Given the description of an element on the screen output the (x, y) to click on. 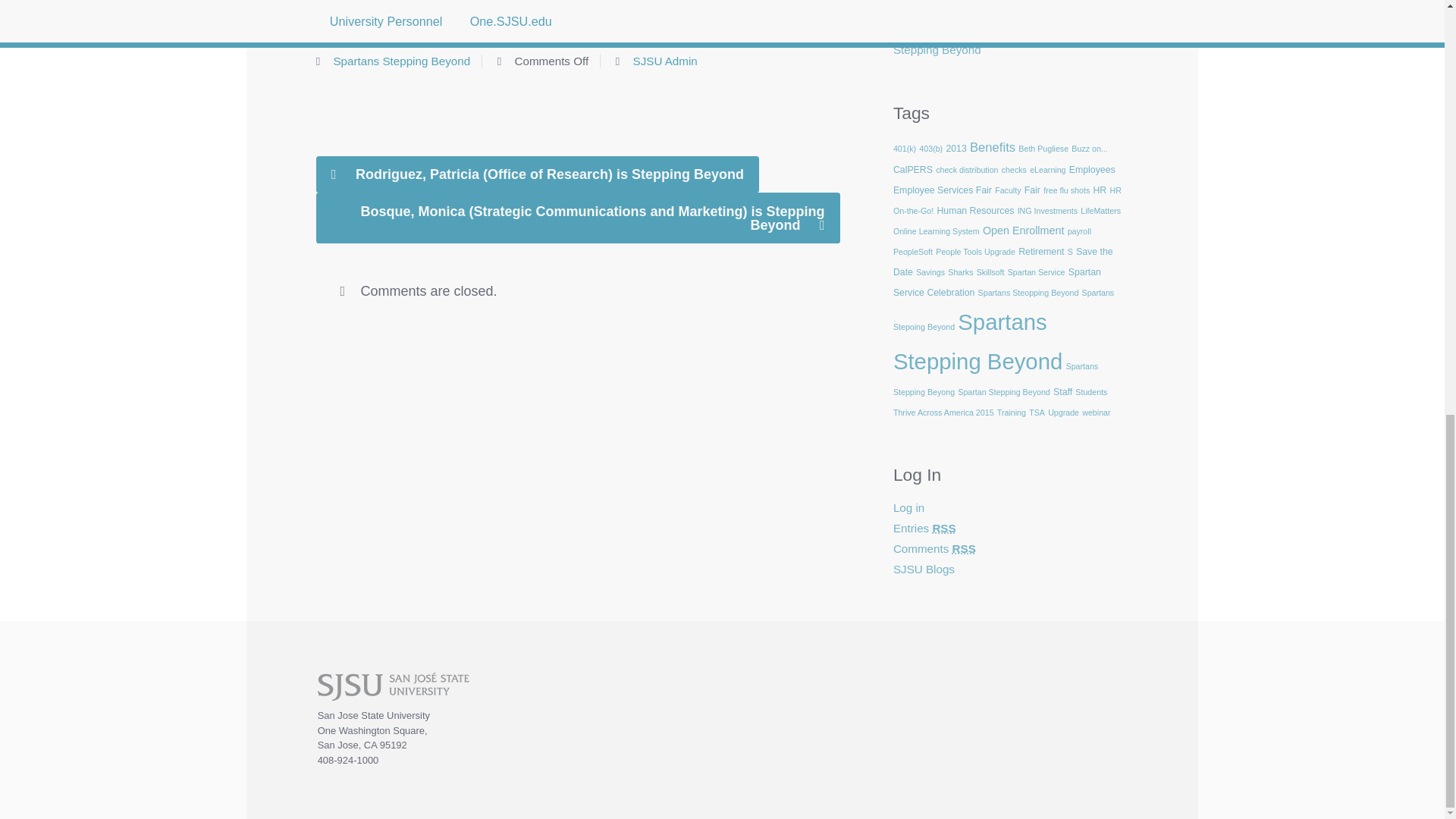
Really Simple Syndication (943, 527)
Spartans Stepping Beyond (401, 60)
Powered by SJSU Blogs (924, 568)
Benefits (991, 147)
eLearning (1047, 169)
HR (1099, 190)
free flu shots (1066, 189)
Beth Pugliese (1042, 148)
2013 (955, 148)
Human Resources (974, 210)
Employees (1091, 169)
The latest comments to all posts in RSS (934, 548)
SJSU Admin (665, 60)
ING Investments (1047, 210)
HR On-the-Go! (1007, 200)
